Given the description of an element on the screen output the (x, y) to click on. 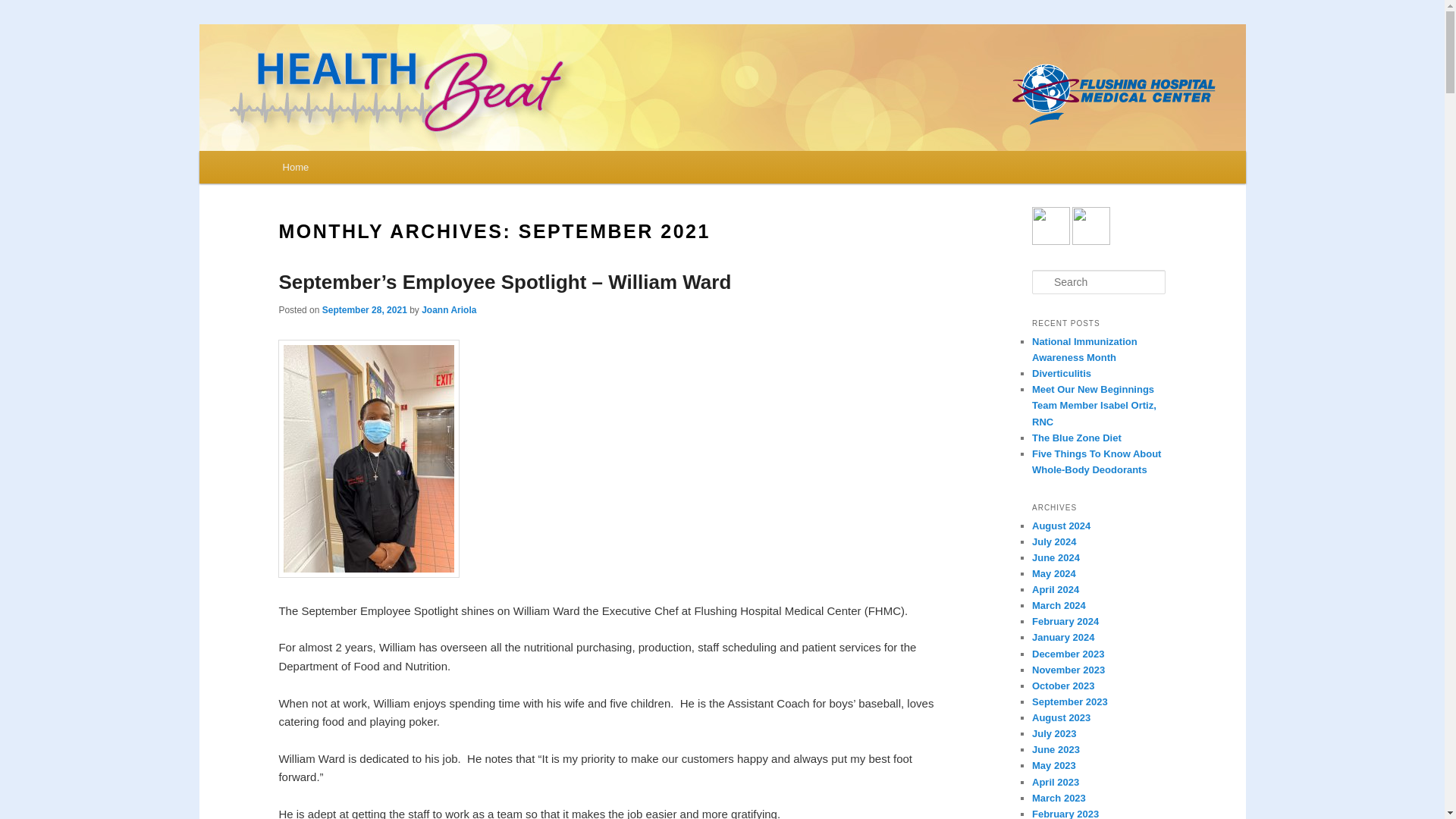
Skip to secondary content (357, 169)
September 28, 2021 (364, 309)
6:07 pm (364, 309)
Skip to secondary content (357, 169)
Joann Ariola (449, 309)
Skip to primary content (350, 169)
Home (295, 166)
View all posts by Joann Ariola (449, 309)
Skip to primary content (350, 169)
